Given the description of an element on the screen output the (x, y) to click on. 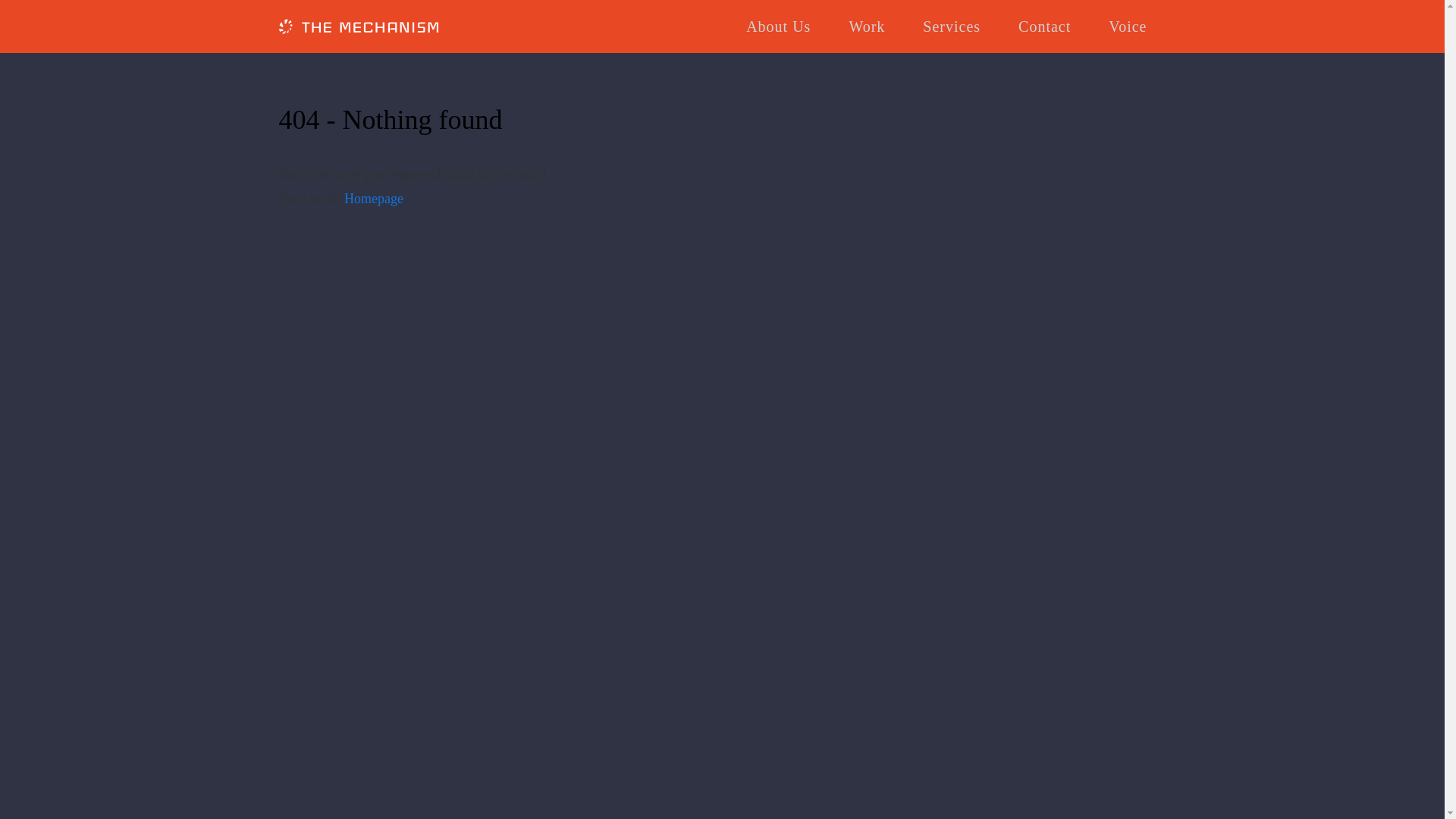
Services (951, 26)
The Mechanism (358, 28)
Contact (1043, 26)
Work (866, 26)
Homepage (373, 198)
About Us (777, 26)
Voice (1127, 26)
